Given the description of an element on the screen output the (x, y) to click on. 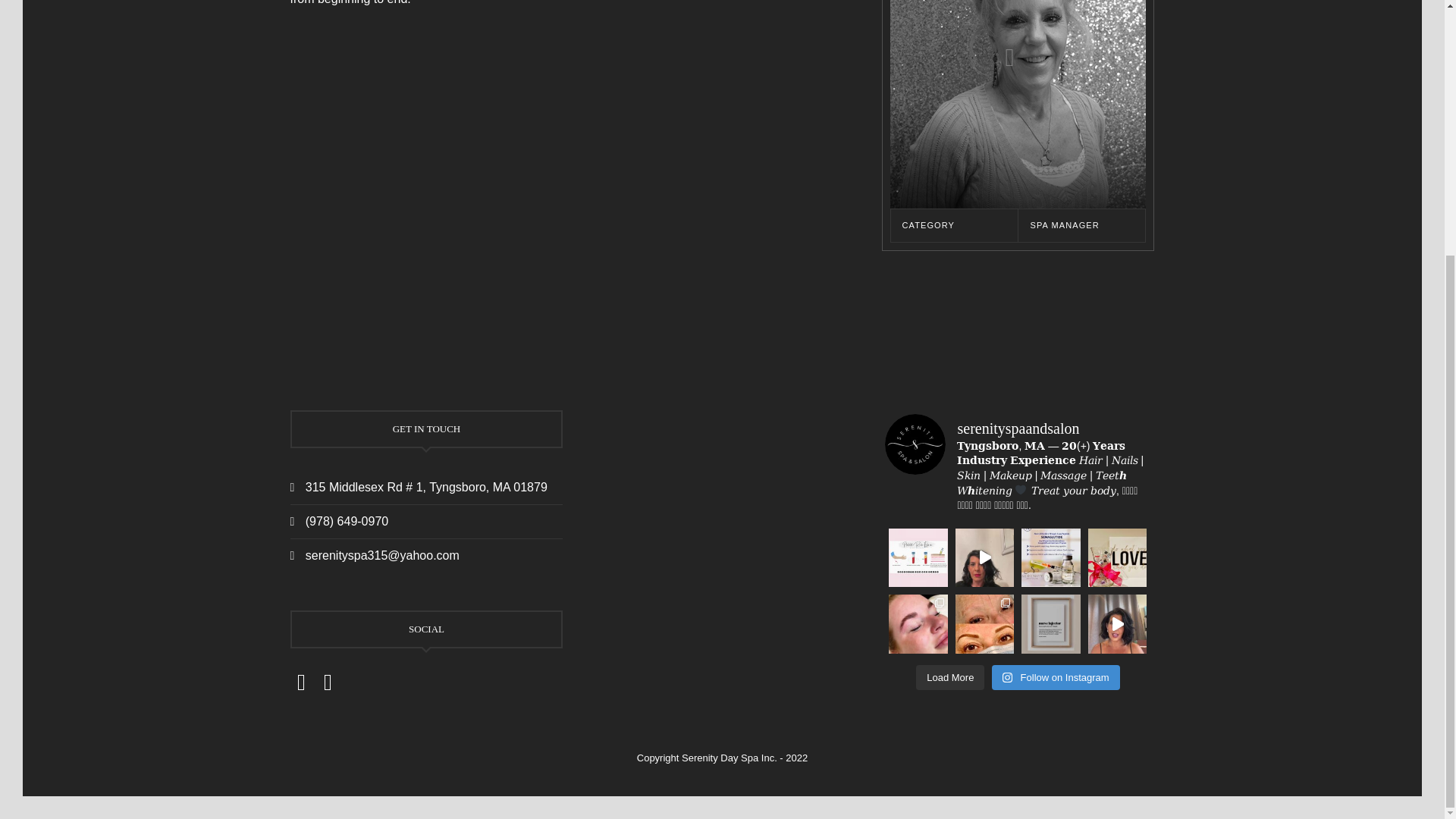
Facebook (301, 681)
Instagram (328, 681)
